Given the description of an element on the screen output the (x, y) to click on. 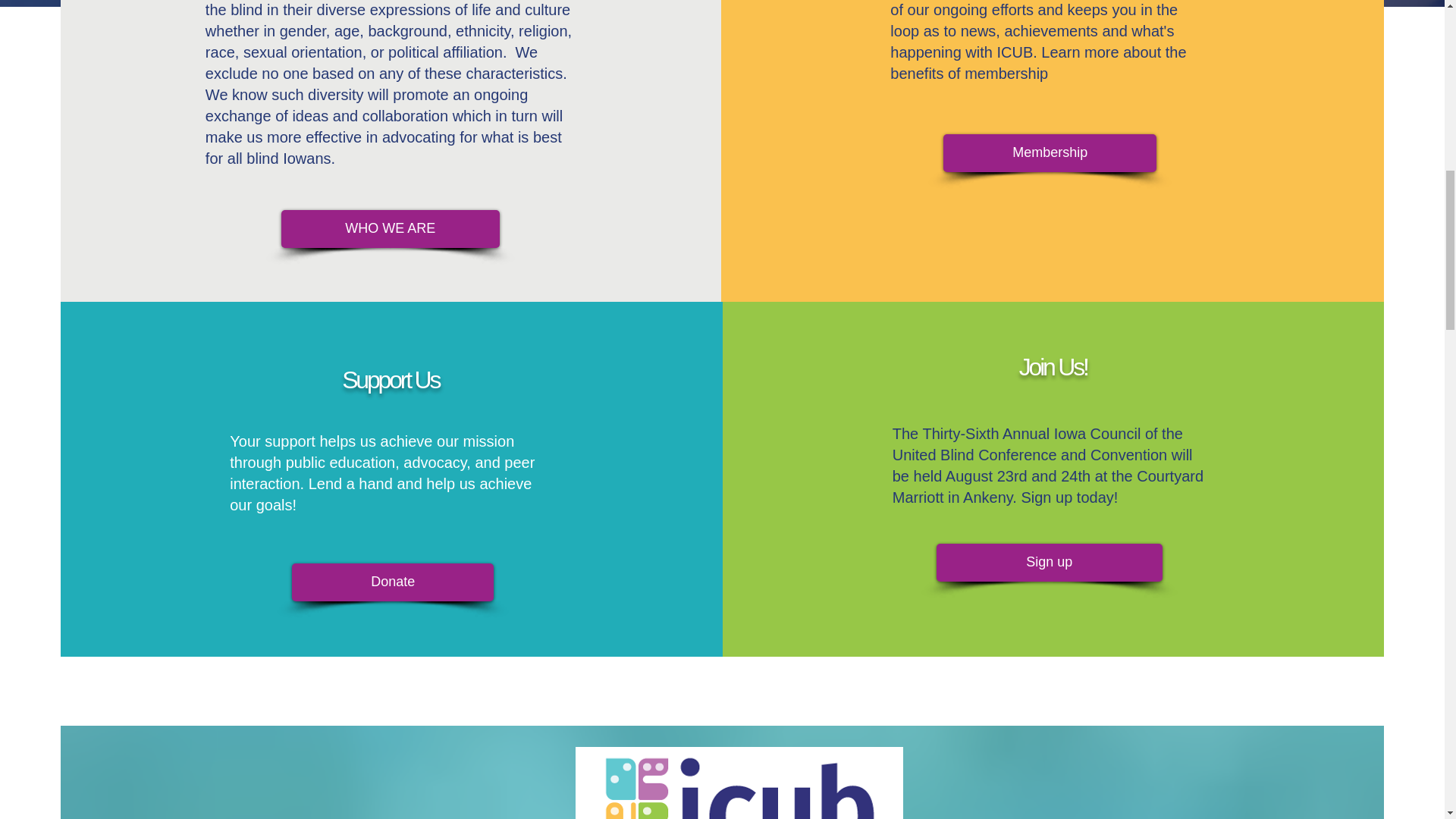
Membership (1049, 152)
Sign up (1048, 562)
Donate (392, 582)
WHO WE ARE (390, 228)
